Given the description of an element on the screen output the (x, y) to click on. 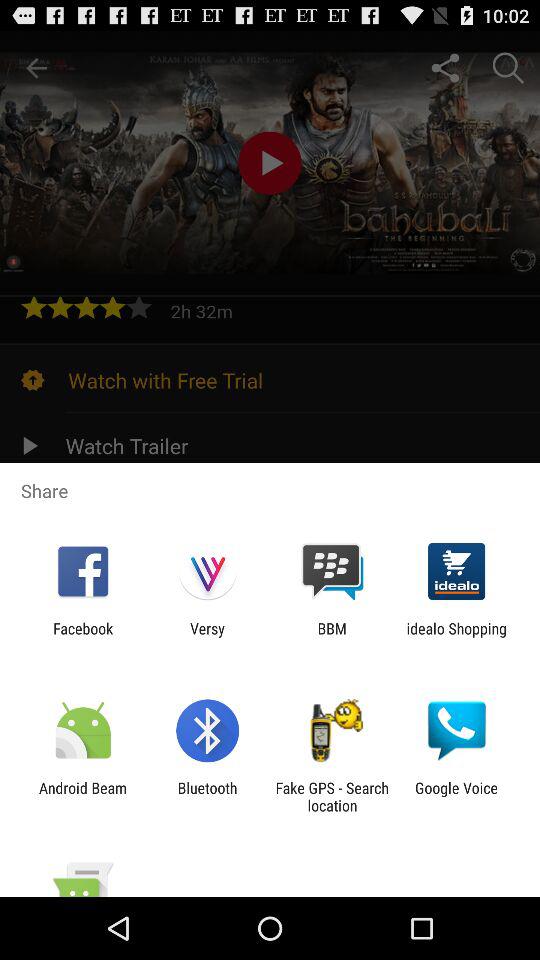
tap the item next to the facebook app (207, 637)
